Given the description of an element on the screen output the (x, y) to click on. 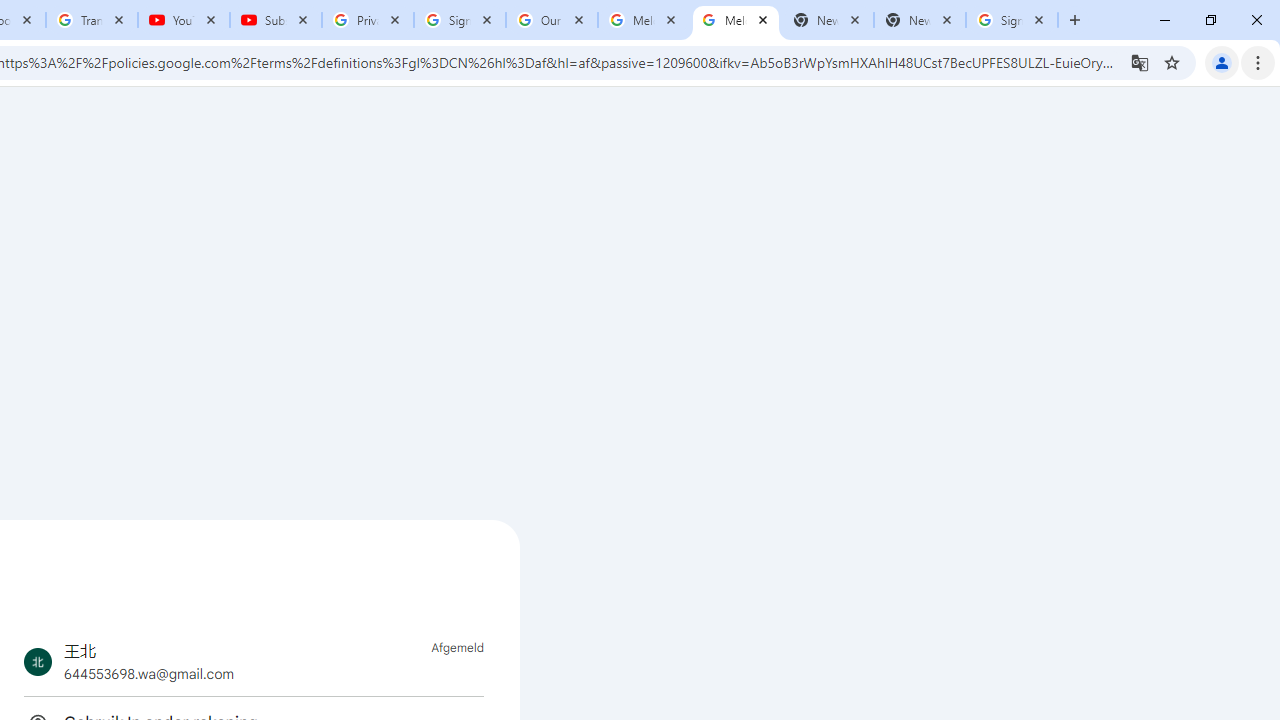
Sign in - Google Accounts (459, 20)
Translate this page (1139, 62)
Subscriptions - YouTube (276, 20)
YouTube (184, 20)
New Tab (920, 20)
